Given the description of an element on the screen output the (x, y) to click on. 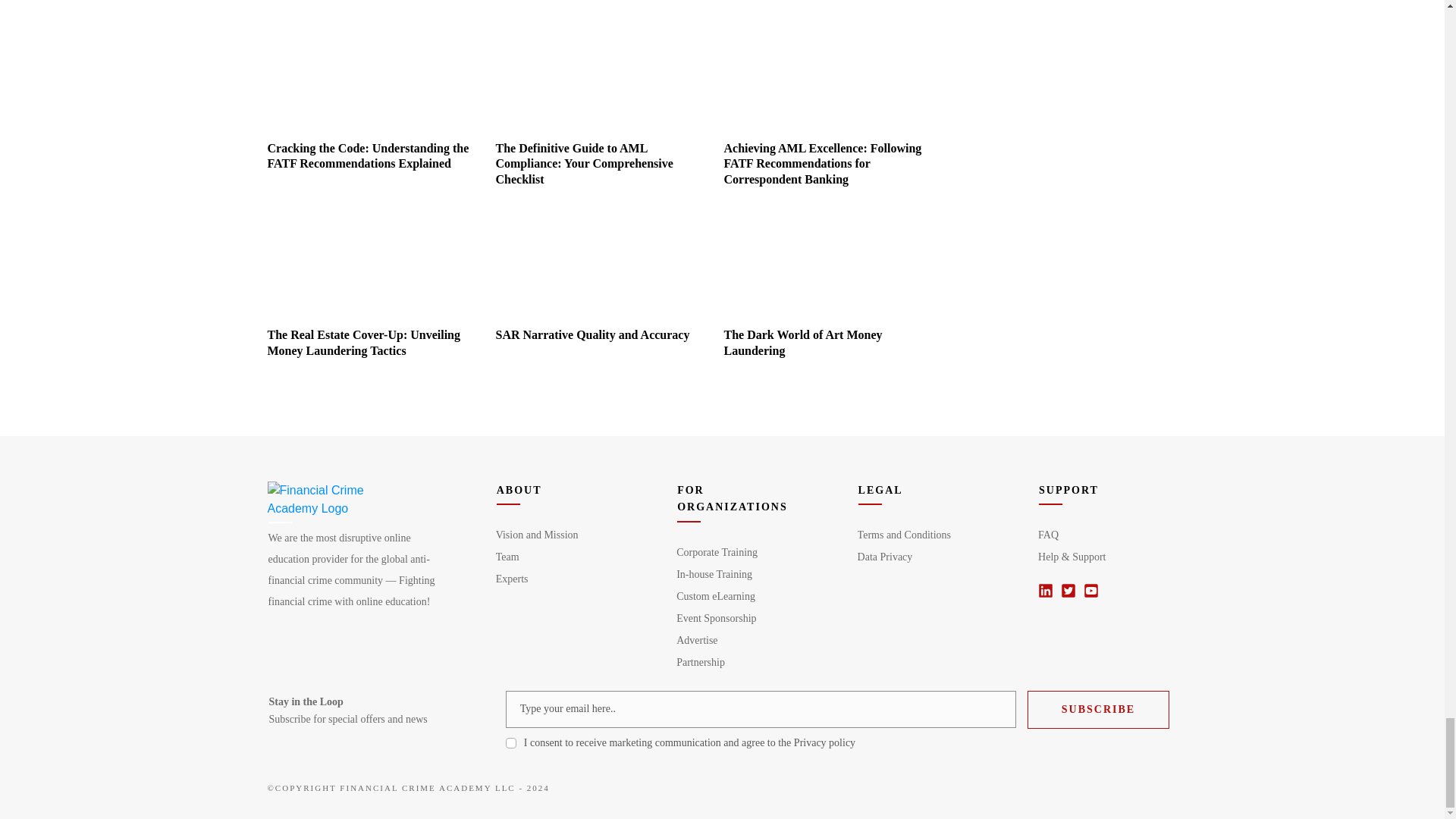
SAR Narrative Quality and Accuracy (596, 266)
SAR Narrative Quality and Accuracy (591, 334)
The Real Estate Cover-Up: Unveiling Money Laundering Tactics (363, 342)
The Real Estate Cover-Up: Unveiling Money Laundering Tactics (367, 266)
